Given the description of an element on the screen output the (x, y) to click on. 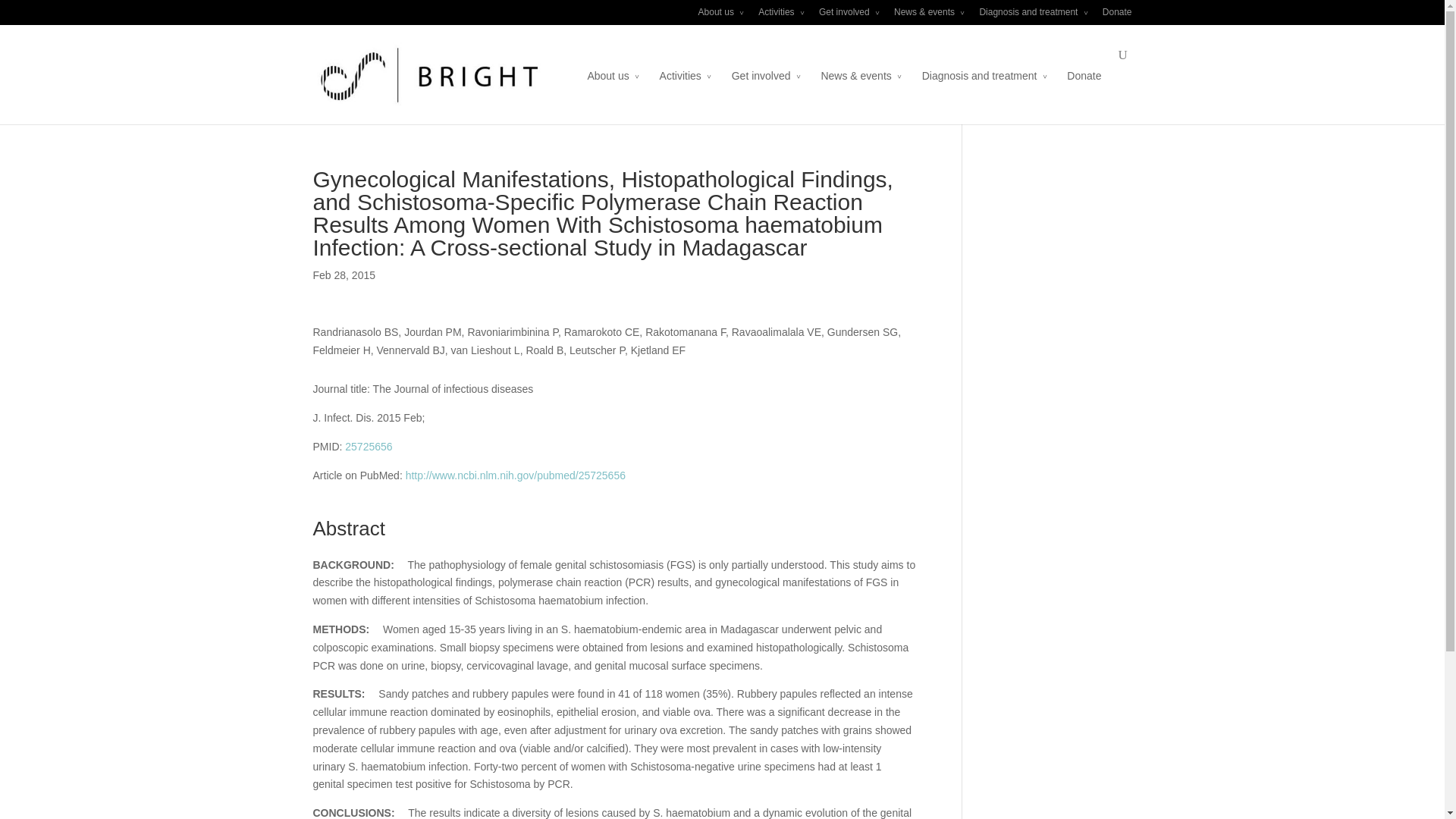
Diagnosis and treatment (1032, 16)
About us (612, 87)
Activities (781, 16)
Get involved (849, 16)
About us (721, 16)
Donate (1117, 16)
